Given the description of an element on the screen output the (x, y) to click on. 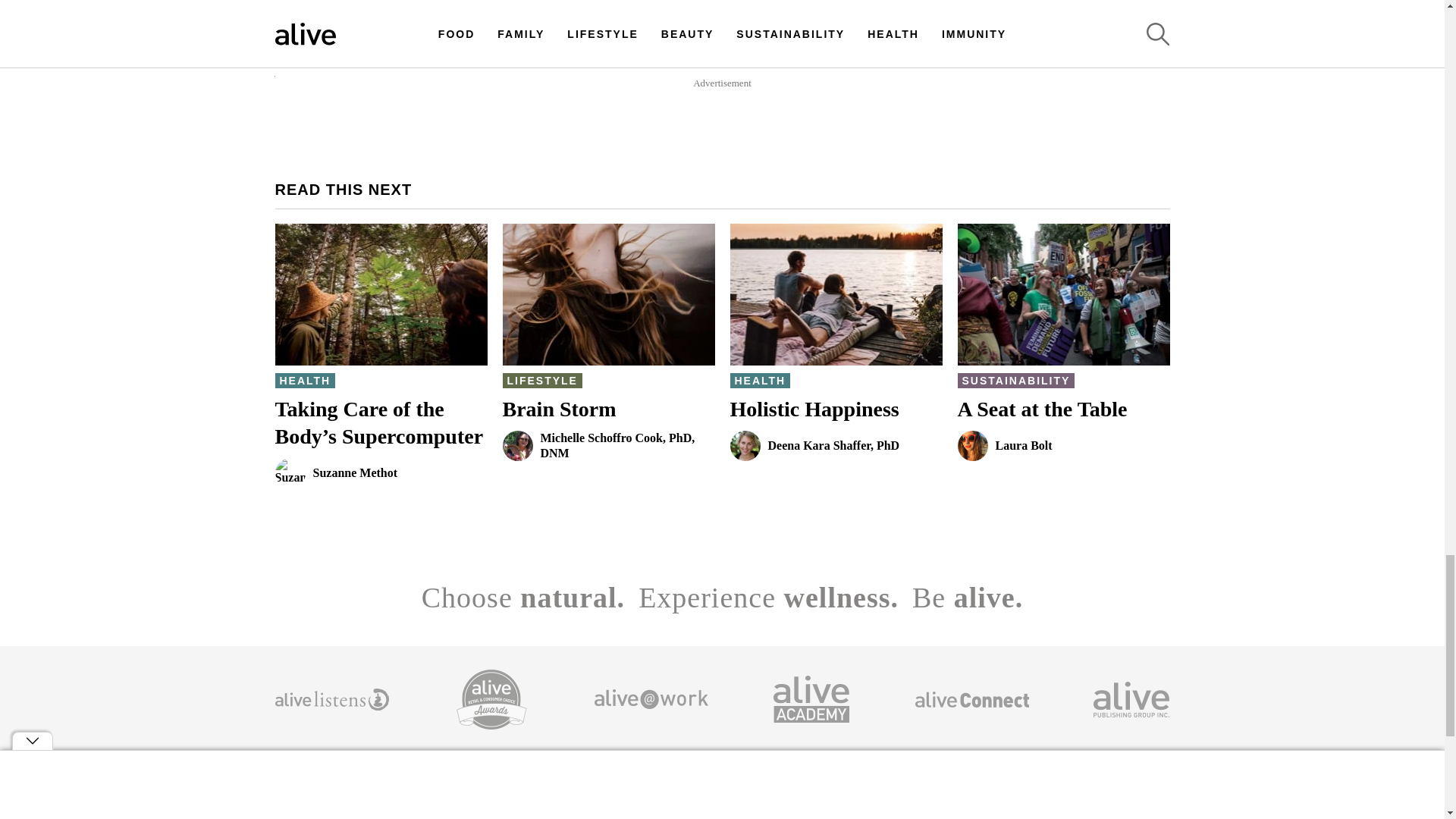
BODY SYSTEMS (835, 439)
HEALTH (359, 79)
HEALTH (759, 380)
LIFESTYLE (304, 380)
SUSTAINABILITY (541, 380)
